Given the description of an element on the screen output the (x, y) to click on. 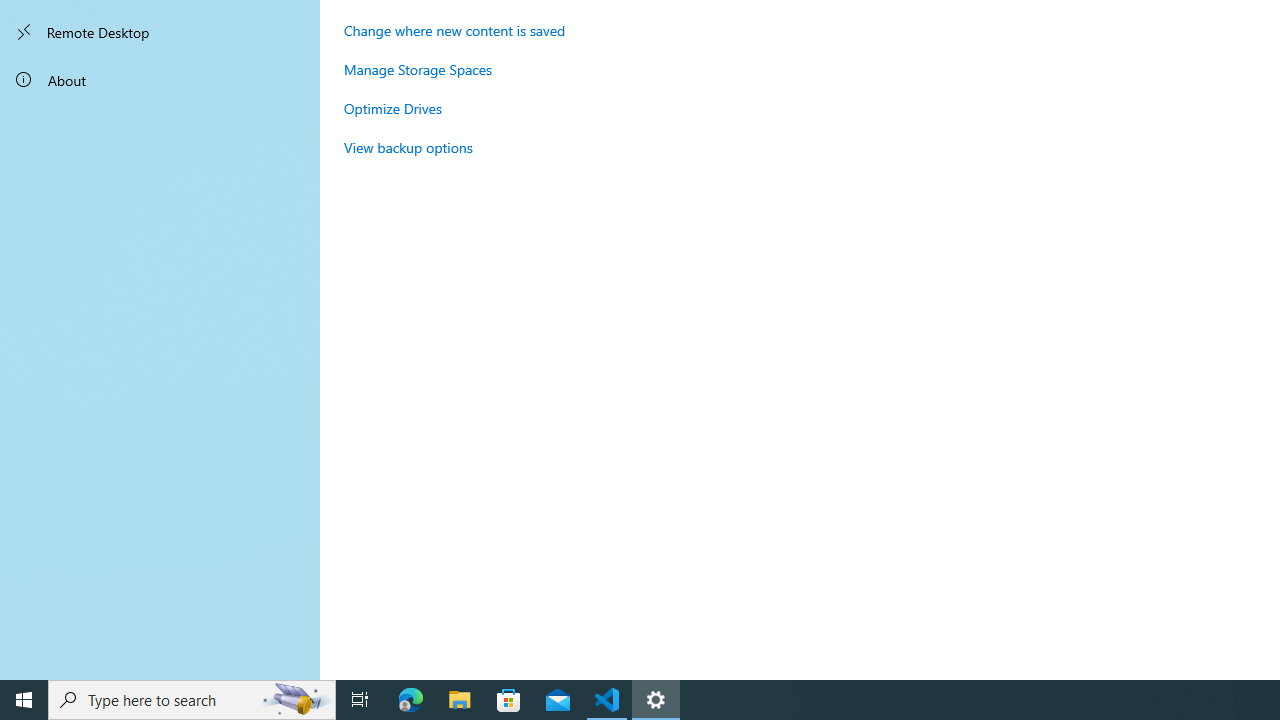
Start (24, 699)
